Given the description of an element on the screen output the (x, y) to click on. 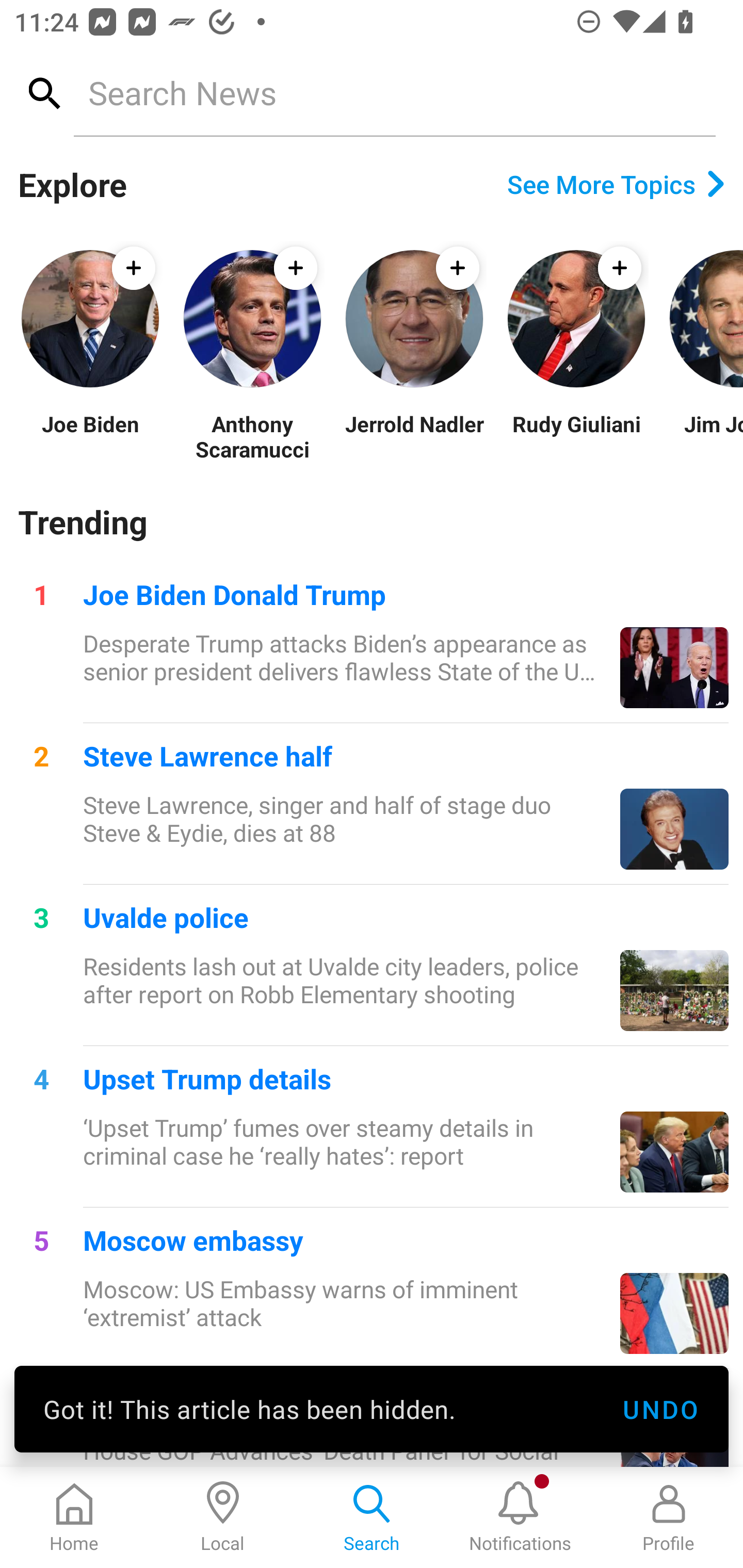
Search News (394, 92)
See More Topics (616, 183)
Joe Biden (89, 436)
Anthony Scaramucci (251, 436)
Jerrold Nadler (413, 436)
Rudy Giuliani (575, 436)
UNDO (660, 1408)
Home (74, 1517)
Local (222, 1517)
Notifications, New notification Notifications (519, 1517)
Profile (668, 1517)
